Given the description of an element on the screen output the (x, y) to click on. 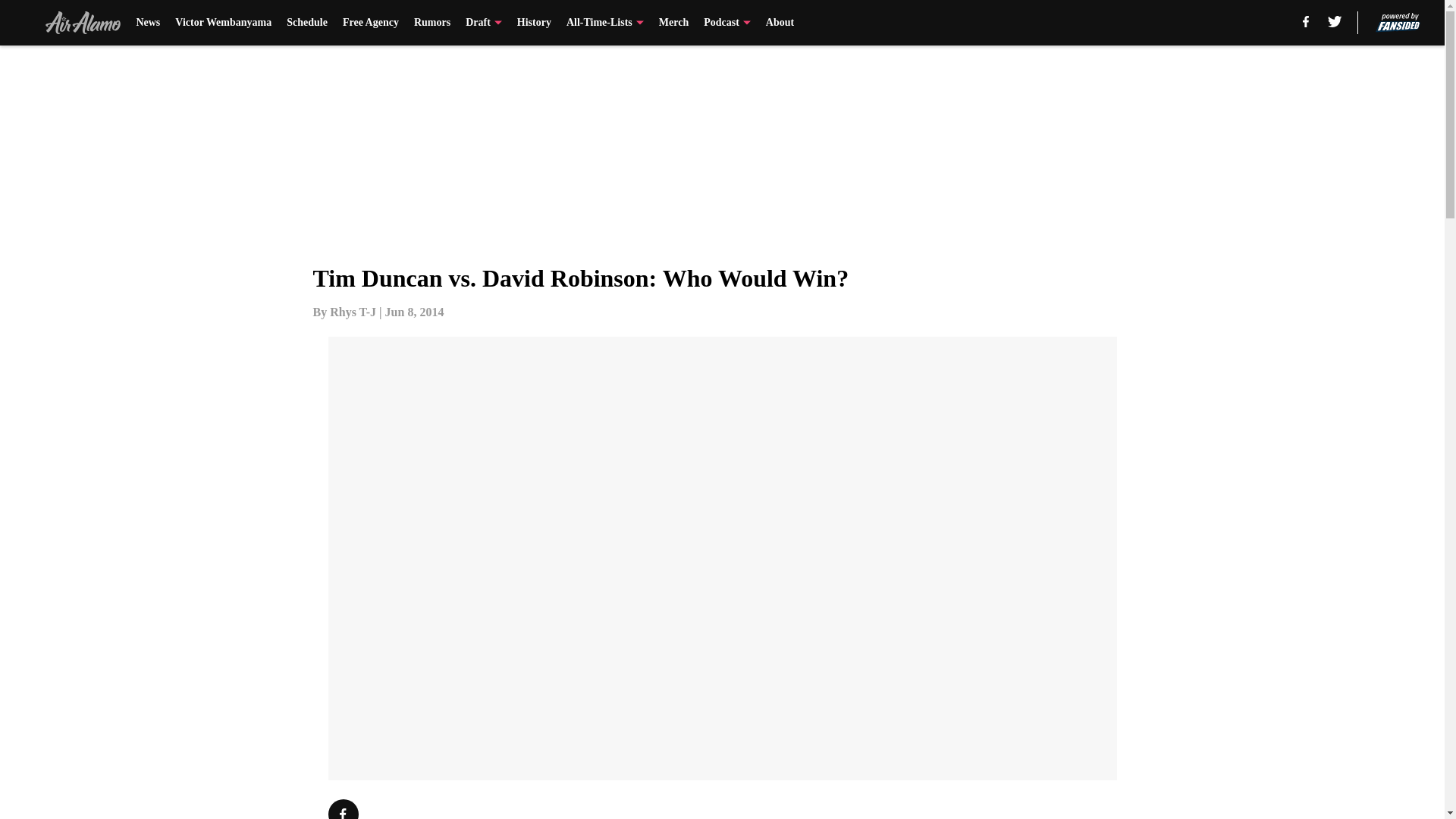
Victor Wembanyama (222, 22)
History (533, 22)
Draft (483, 22)
Free Agency (370, 22)
About (779, 22)
News (147, 22)
Merch (673, 22)
Rumors (431, 22)
Schedule (306, 22)
